Given the description of an element on the screen output the (x, y) to click on. 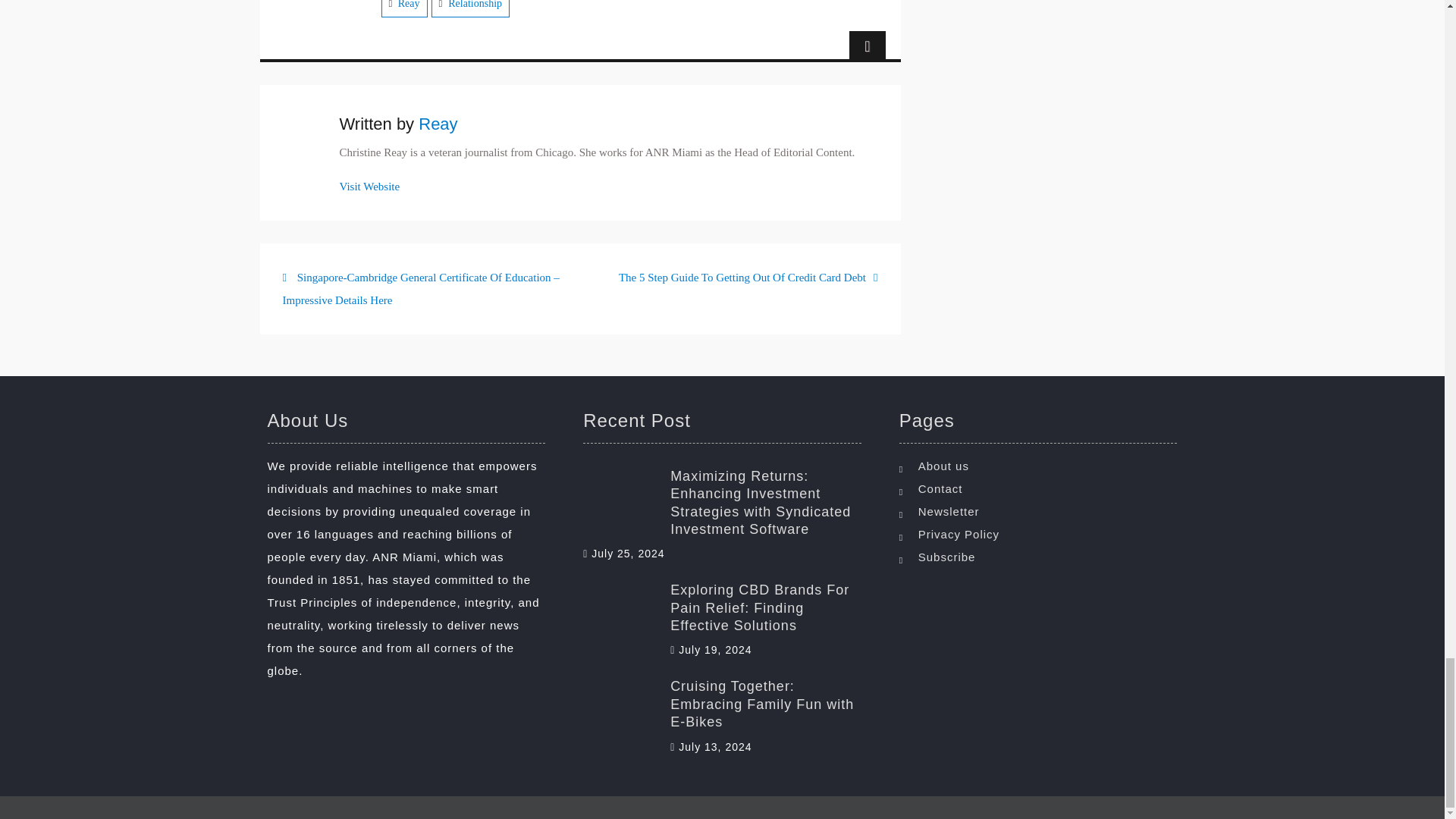
Reay (438, 123)
Visit Website (369, 186)
Subscribe (1042, 557)
Cruising Together: Embracing Family Fun with E-Bikes (722, 704)
Newsletter (1042, 511)
Contact (1042, 488)
Privacy Policy (1042, 534)
Posts by Reay (438, 123)
Reay (408, 4)
Relationship (475, 4)
About us (1042, 466)
